Given the description of an element on the screen output the (x, y) to click on. 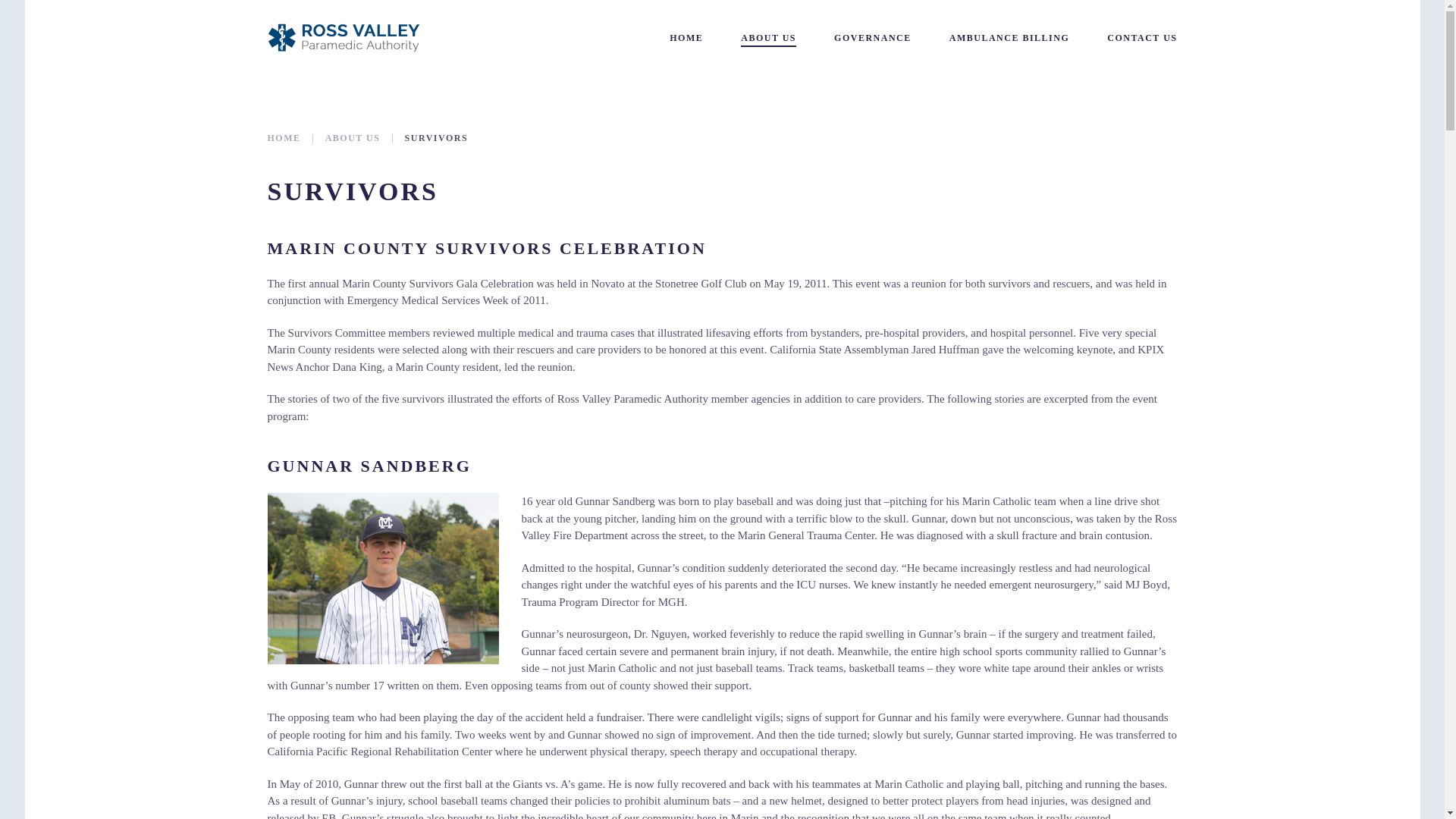
ABOUT US (352, 137)
Gunnar Sandberg (381, 578)
GOVERNANCE (872, 38)
CONTACT US (1141, 38)
AMBULANCE BILLING (1009, 38)
HOME (282, 137)
